Given the description of an element on the screen output the (x, y) to click on. 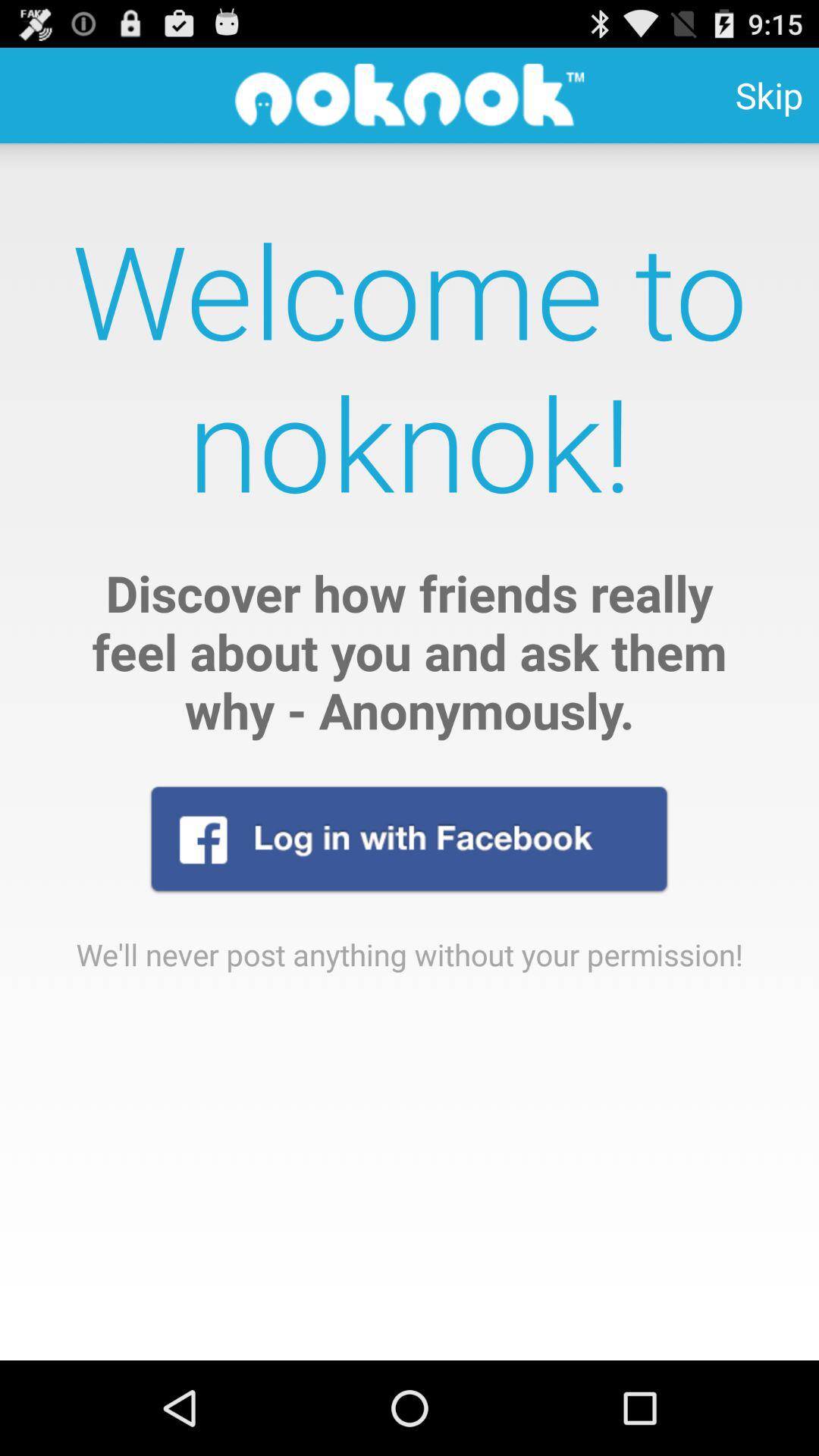
tap the item above the we ll never item (408, 838)
